Given the description of an element on the screen output the (x, y) to click on. 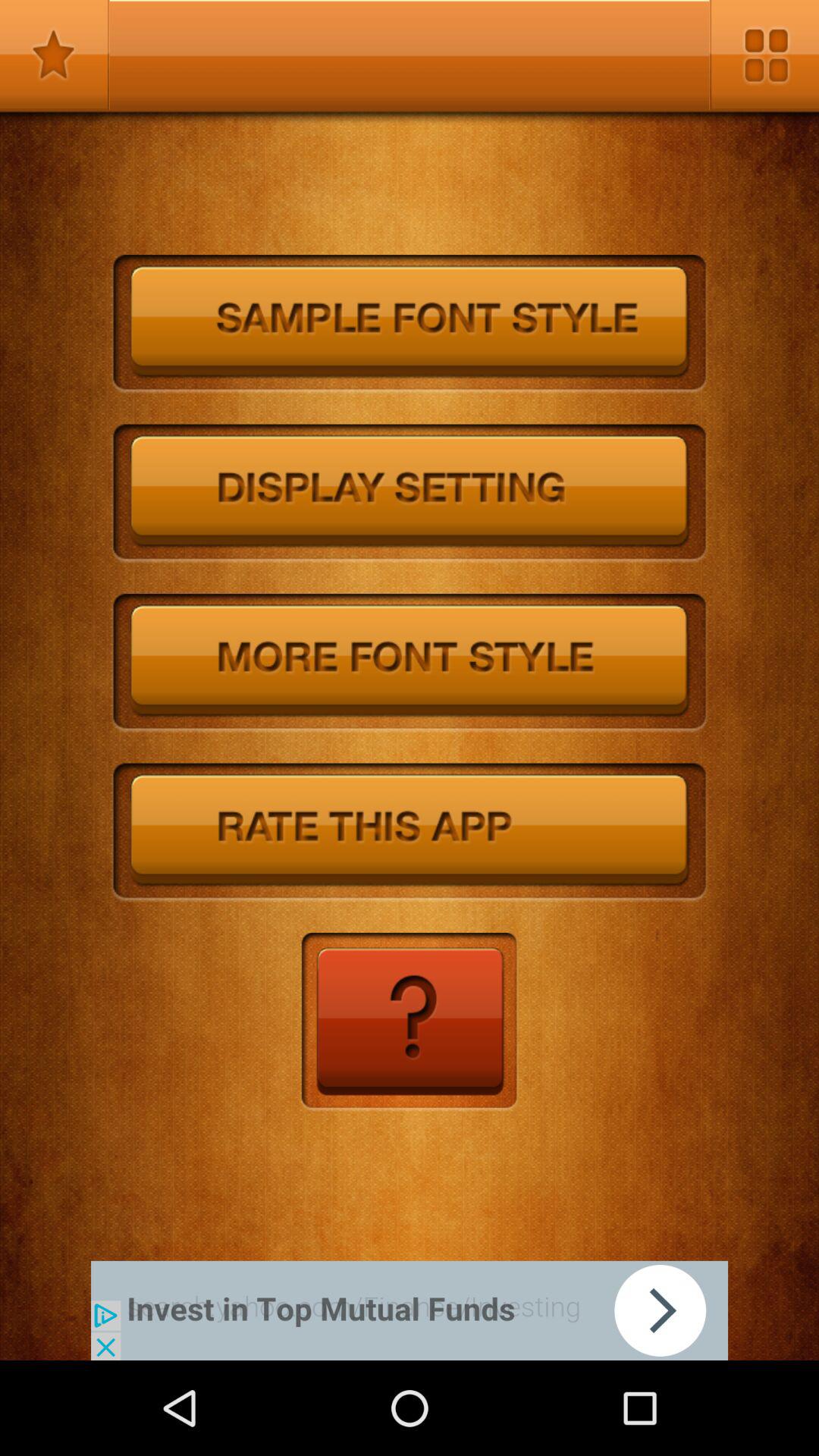
go to menu button (764, 54)
